Given the description of an element on the screen output the (x, y) to click on. 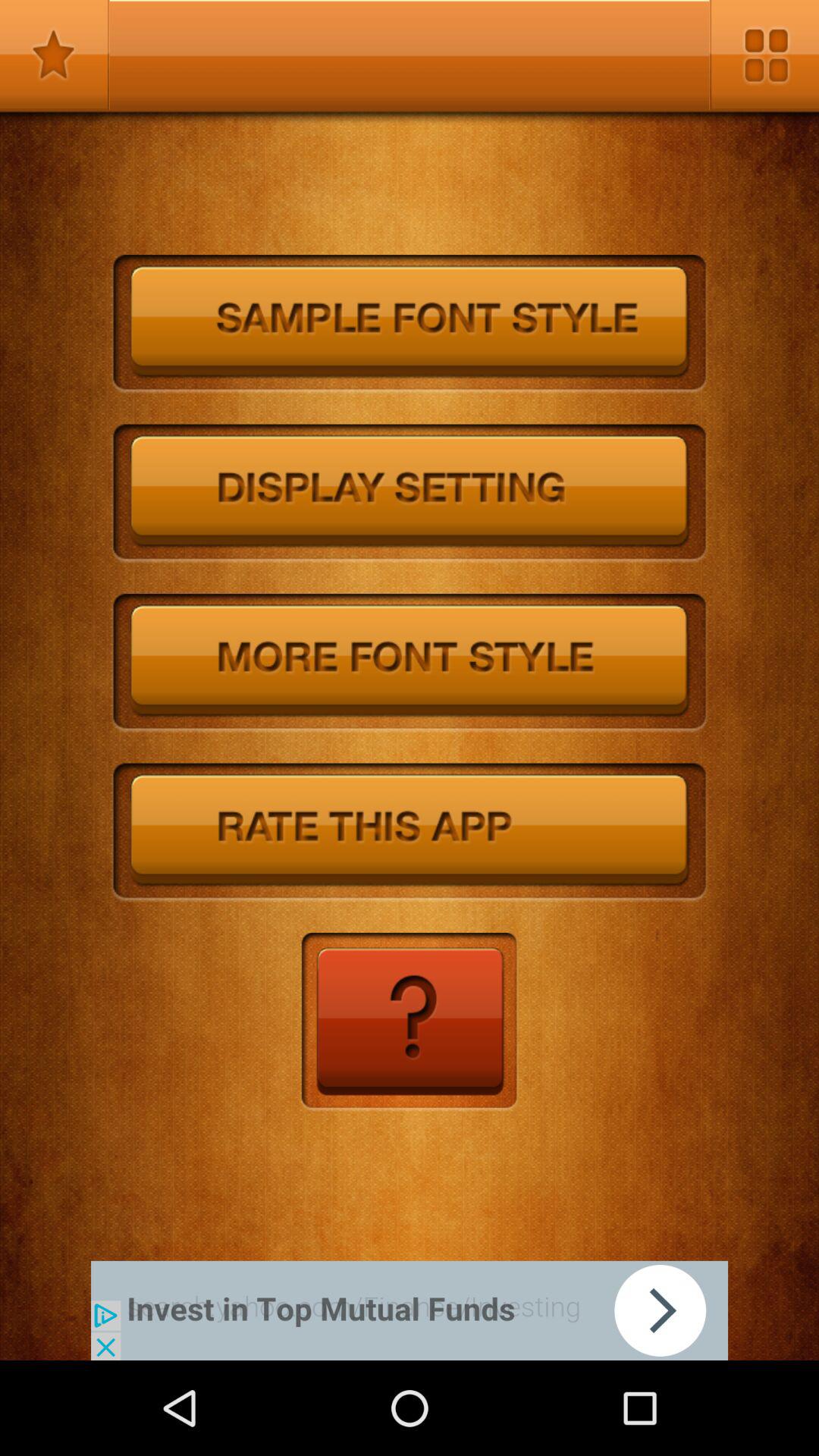
go to menu button (764, 54)
